Given the description of an element on the screen output the (x, y) to click on. 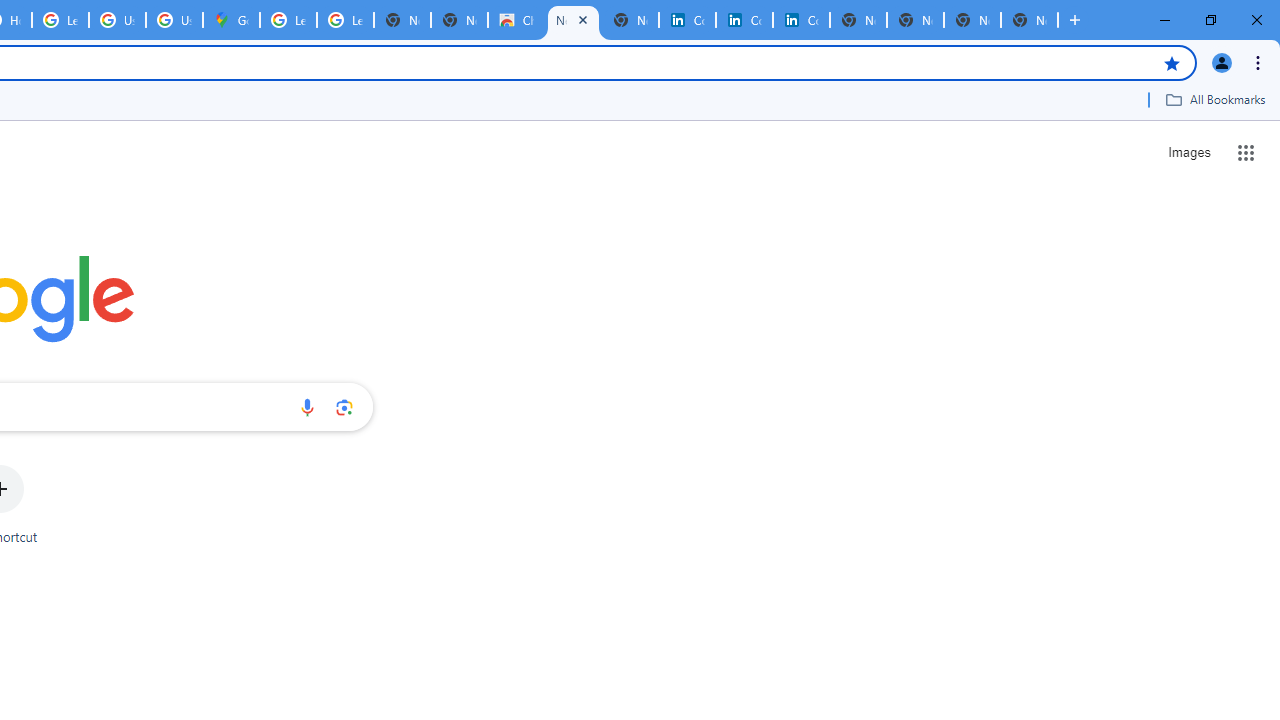
Copyright Policy (801, 20)
Google Maps (231, 20)
Search for Images  (1188, 152)
New Tab (1029, 20)
Cookie Policy | LinkedIn (744, 20)
Search by image (344, 407)
